Given the description of an element on the screen output the (x, y) to click on. 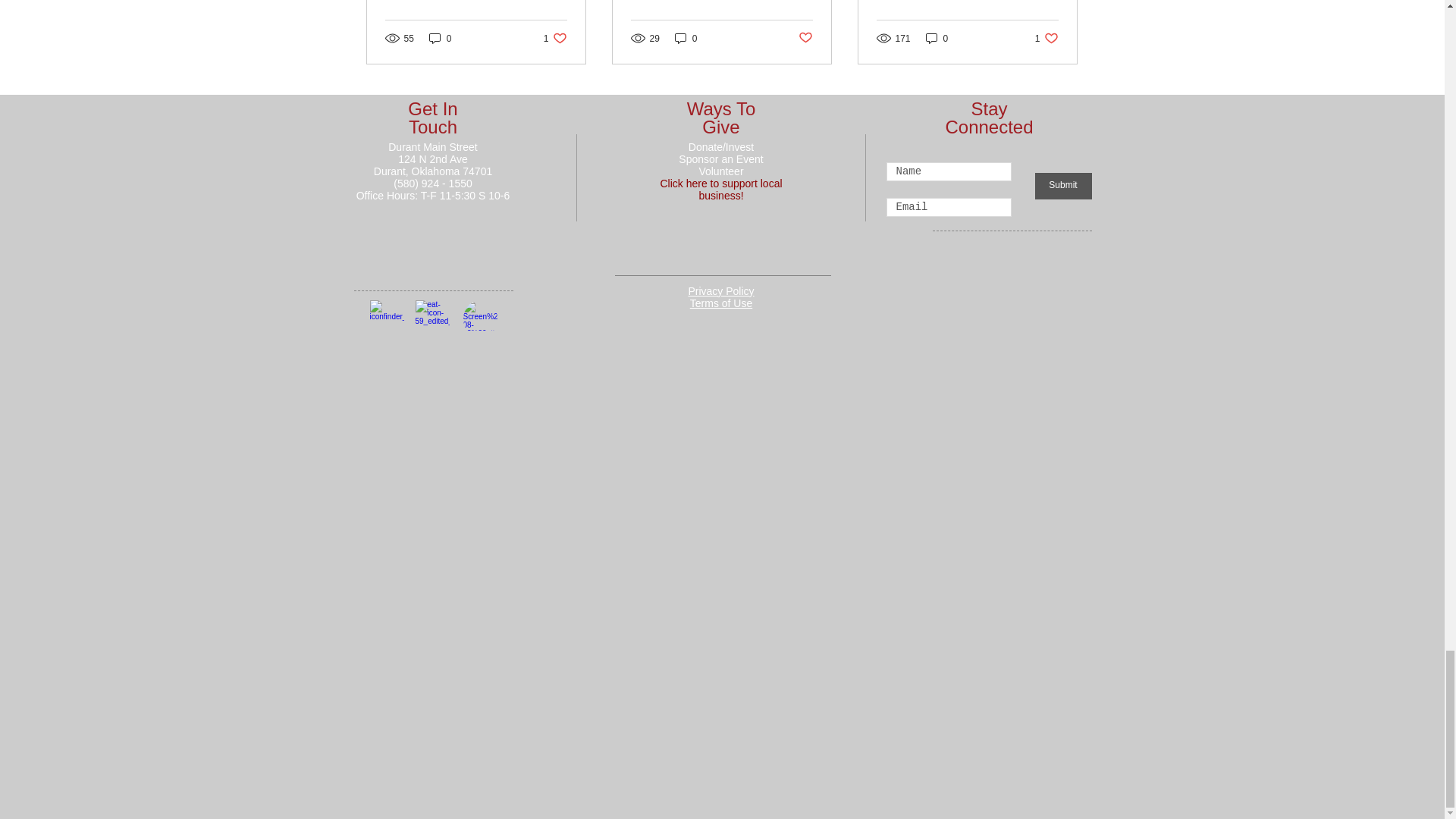
0 (440, 38)
